Given the description of an element on the screen output the (x, y) to click on. 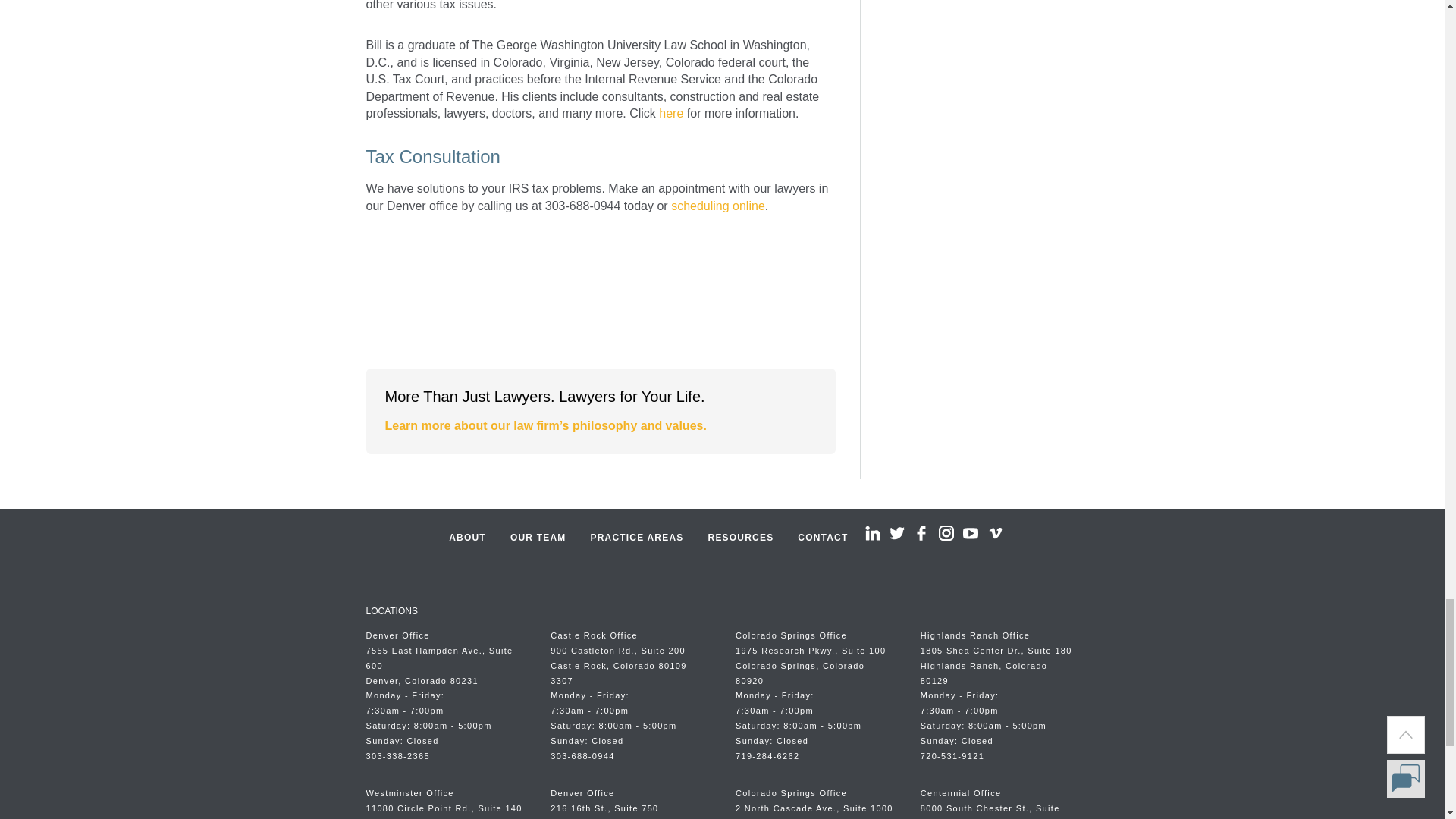
ABOUT (466, 535)
PRACTICE AREAS (636, 535)
scheduling online (718, 205)
here (670, 113)
RESOURCES (740, 535)
OUR TEAM (537, 535)
CONTACT (823, 535)
